Given the description of an element on the screen output the (x, y) to click on. 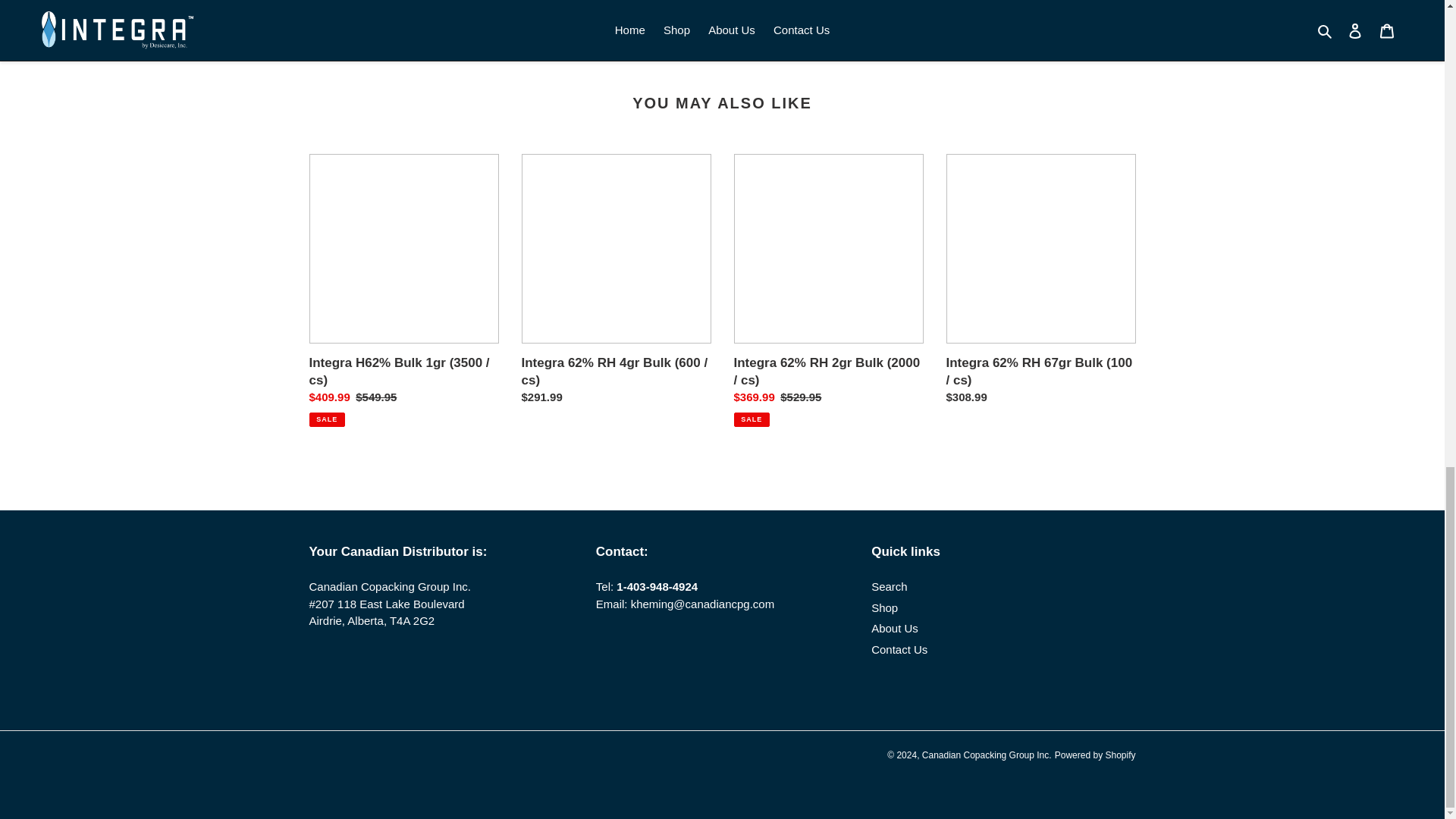
Search (914, 31)
About Us (888, 585)
Shop (894, 627)
